Given the description of an element on the screen output the (x, y) to click on. 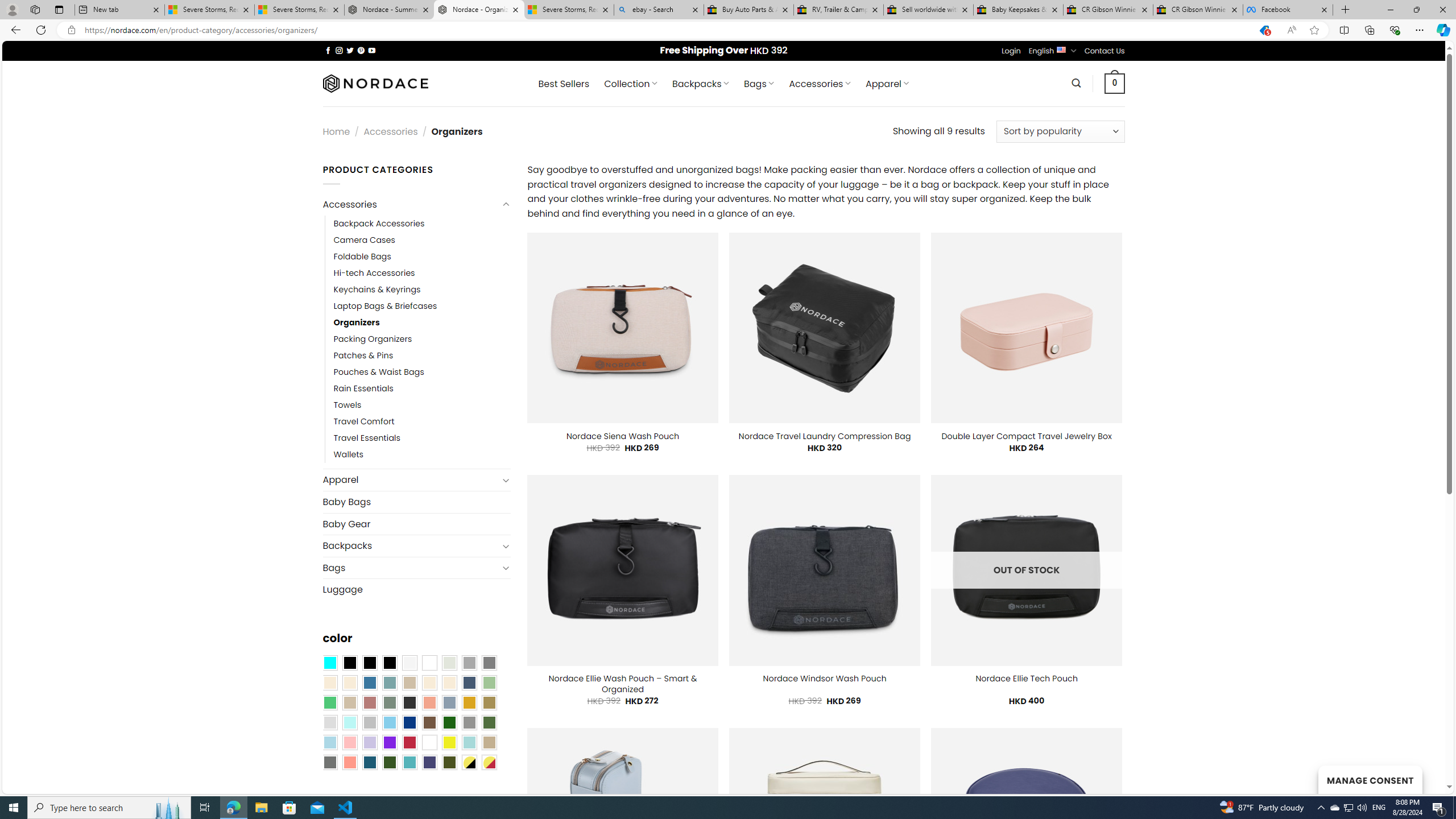
Clear (429, 662)
Teal (408, 762)
Add this page to favorites (Ctrl+D) (1314, 29)
Nordace Travel Laundry Compression Bag (824, 436)
All Gray (488, 662)
Light Purple (369, 741)
Follow on YouTube (371, 49)
Packing Organizers (372, 339)
Tab actions menu (58, 9)
Green (488, 721)
Nordace - Organizers (478, 9)
Khaki (488, 741)
RV, Trailer & Camper Steps & Ladders for sale | eBay (838, 9)
Facebook (1287, 9)
